Given the description of an element on the screen output the (x, y) to click on. 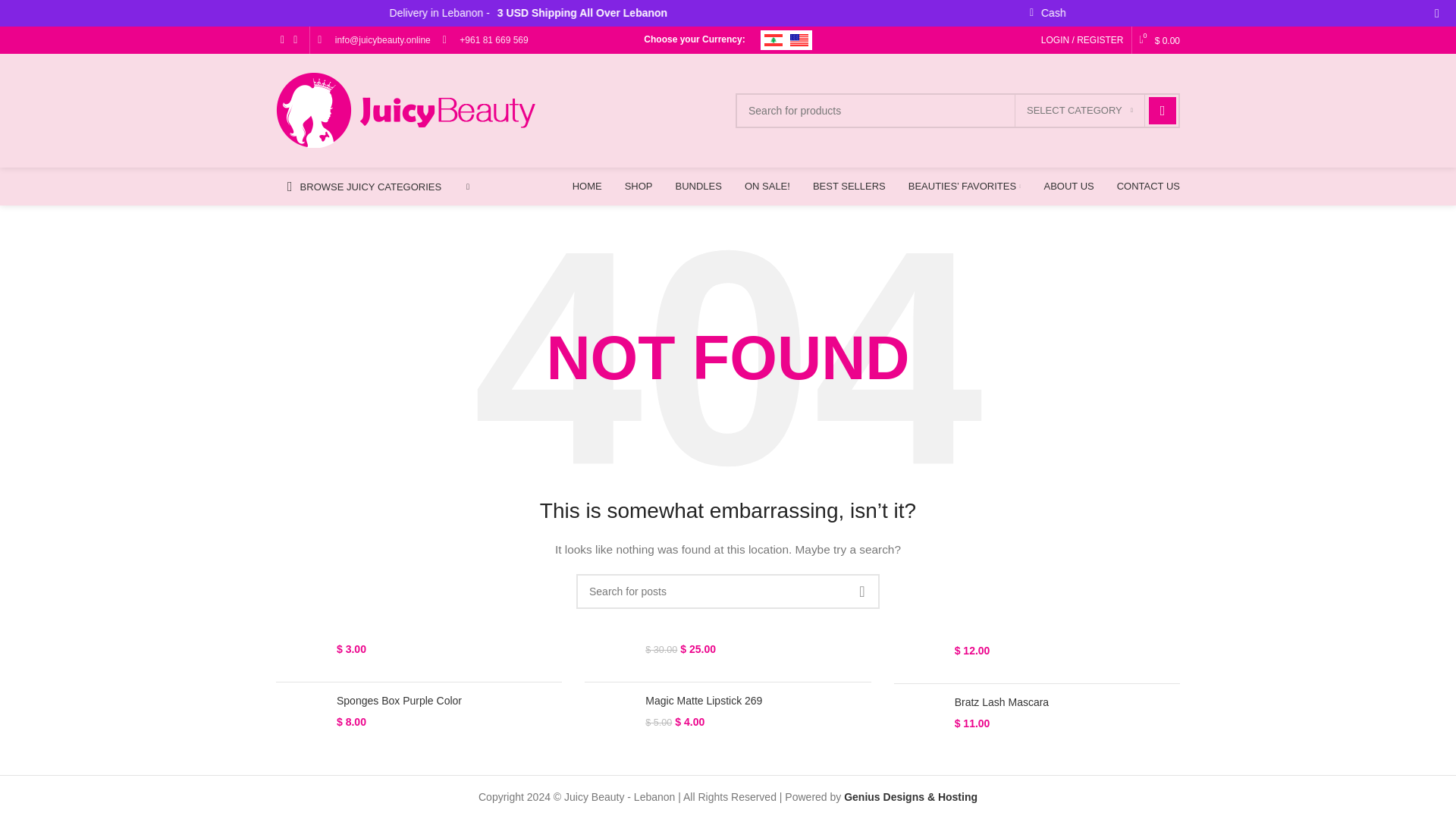
SELECT CATEGORY (1079, 110)
Magic Matte Lipstick No.210 (609, 572)
Mademoiselle Liquid Lipstick F23 (300, 572)
Shopping cart (1159, 40)
Search for products (957, 110)
My account (1082, 40)
Log in (997, 226)
Search for posts (727, 591)
SELECT CATEGORY (1079, 110)
Mademoiselle Liquid Lipstick F23 (449, 555)
Lebanon (773, 39)
